Given the description of an element on the screen output the (x, y) to click on. 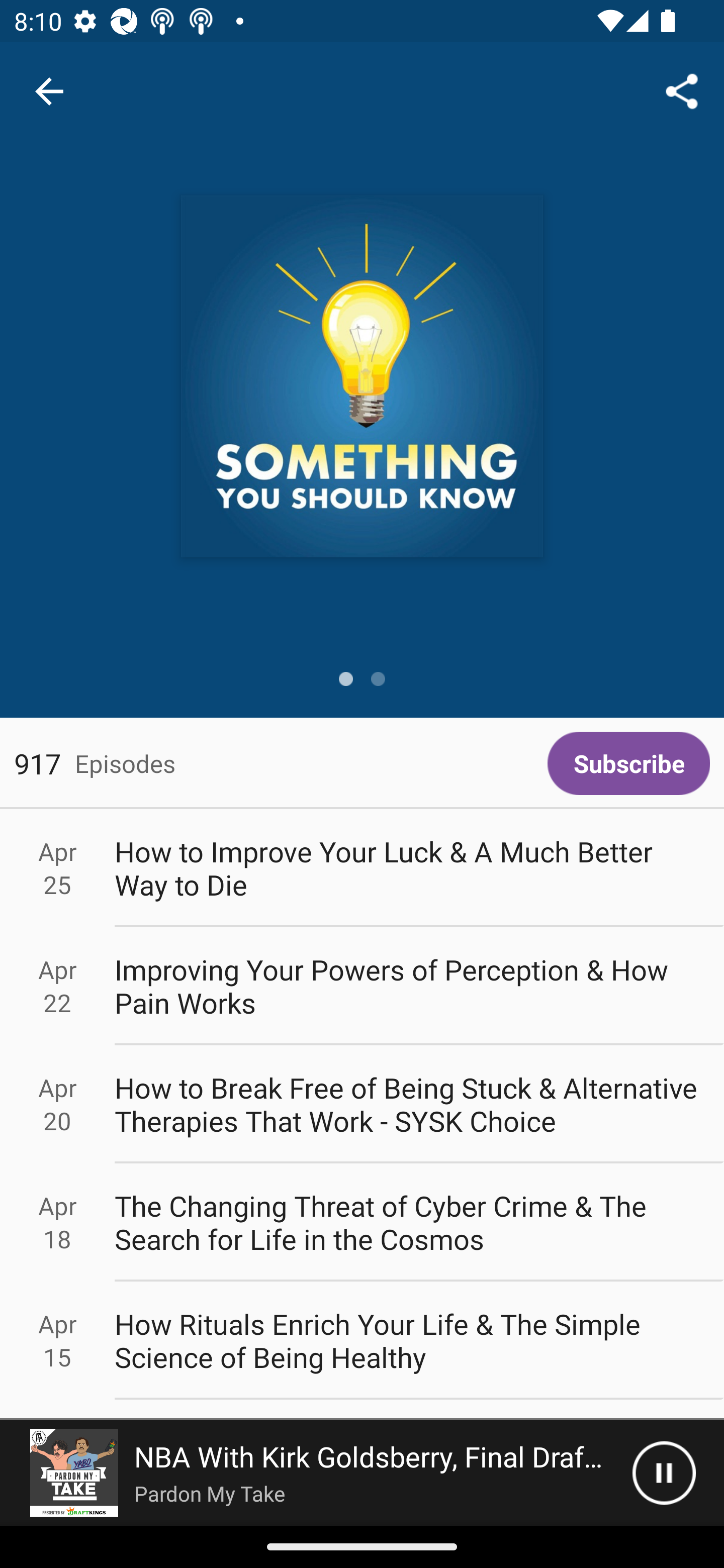
Navigate up (49, 91)
Share... (681, 90)
Subscribe (628, 763)
Pause (663, 1472)
